Given the description of an element on the screen output the (x, y) to click on. 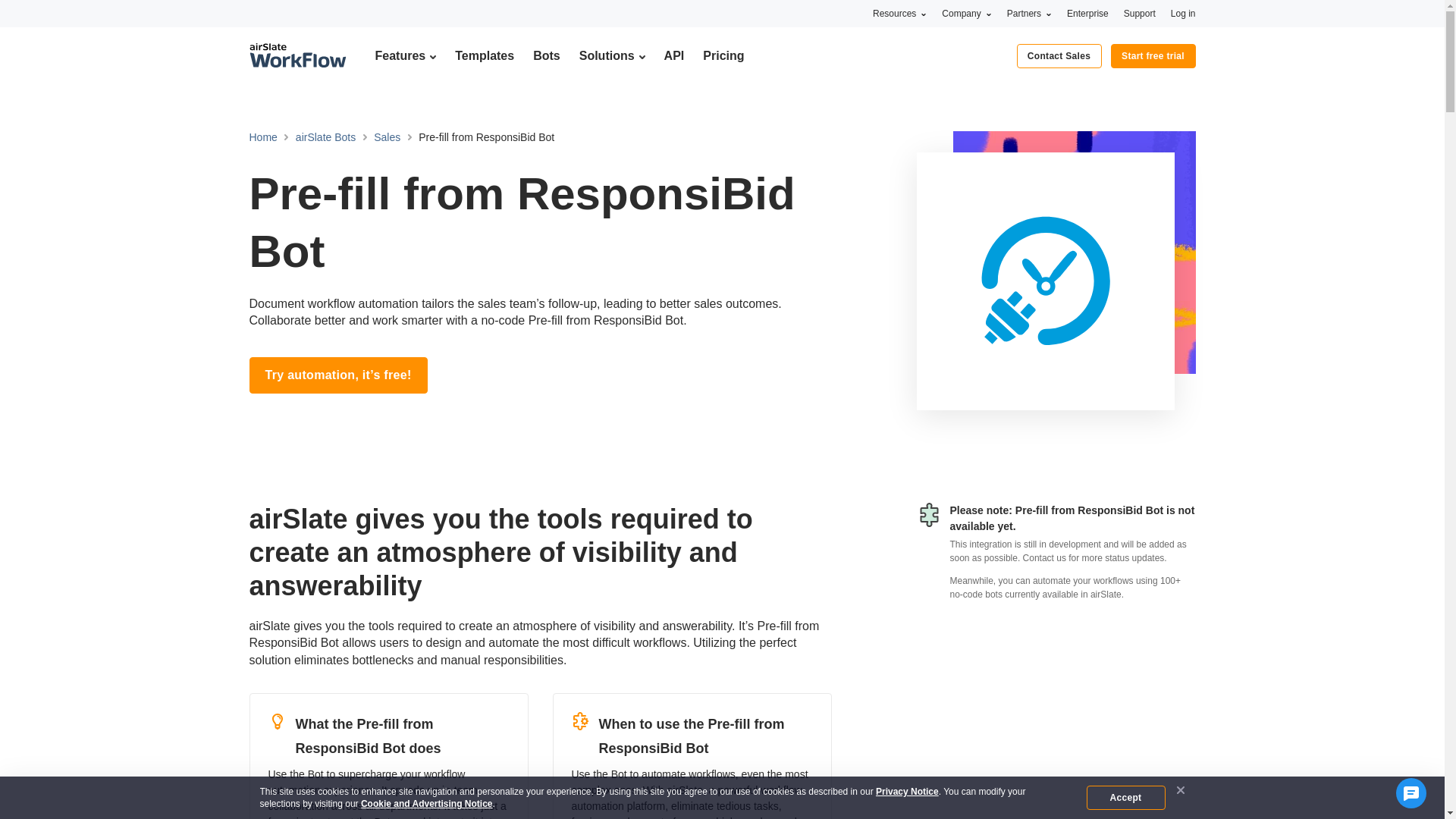
Company (966, 13)
Templates (483, 55)
Partners (1029, 13)
Support (1140, 13)
Log in (1182, 13)
Resources (899, 13)
Enterprise (1087, 13)
